Given the description of an element on the screen output the (x, y) to click on. 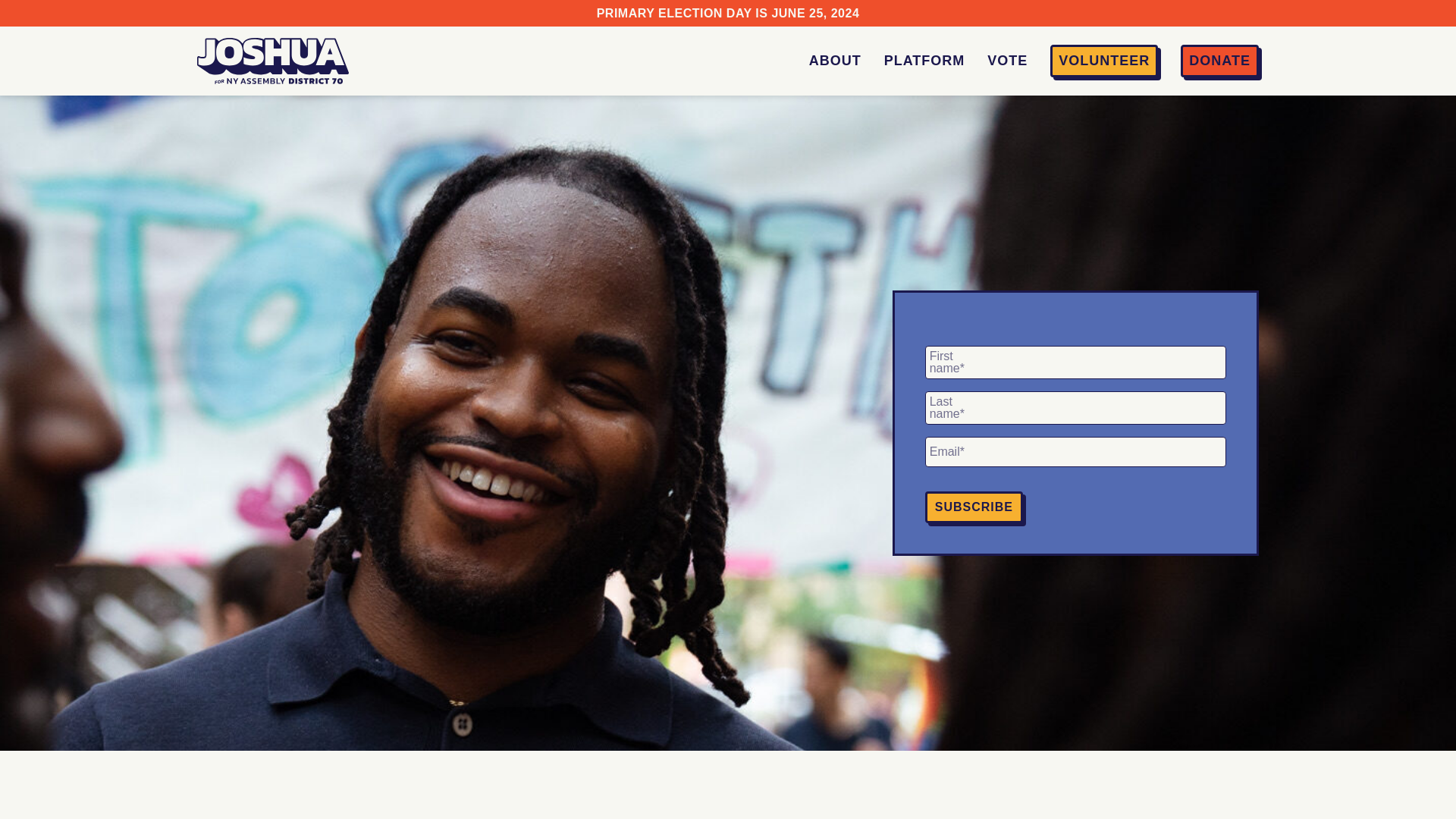
DONATE (1219, 61)
VOTE (1007, 61)
SUBSCRIBE (973, 507)
VOLUNTEER (1104, 61)
PLATFORM (924, 61)
ABOUT (835, 61)
